Given the description of an element on the screen output the (x, y) to click on. 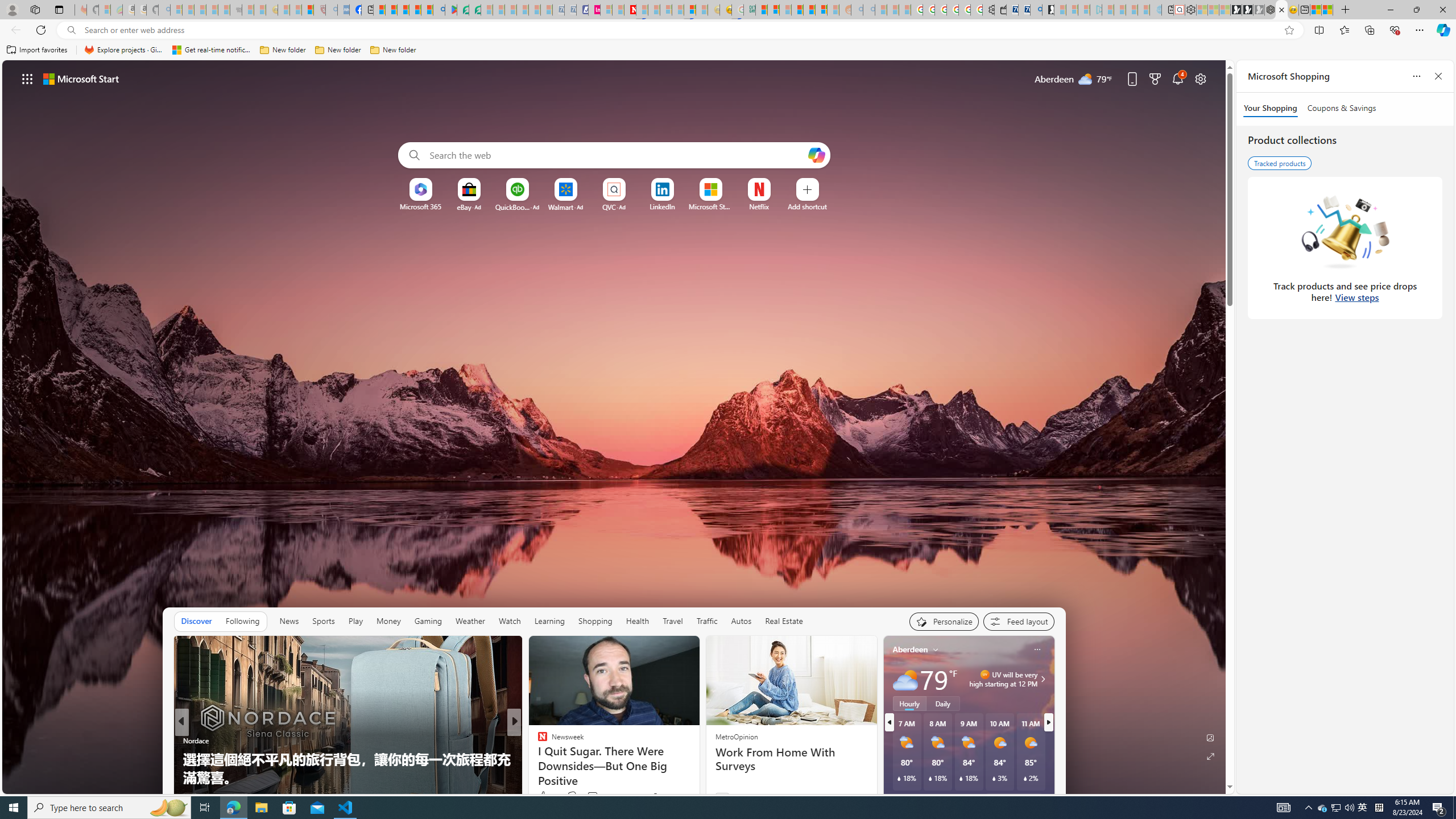
Why Some People Wait To Die Until They're Alone (697, 777)
MetroOpinion (736, 736)
Work From Home With Surveys (790, 759)
Page settings (1200, 78)
Kinda Frugal - MSN (808, 9)
Aberdeen (910, 649)
View comments 116 Comment (592, 795)
Class: weather-arrow-glyph (1043, 678)
